Given the description of an element on the screen output the (x, y) to click on. 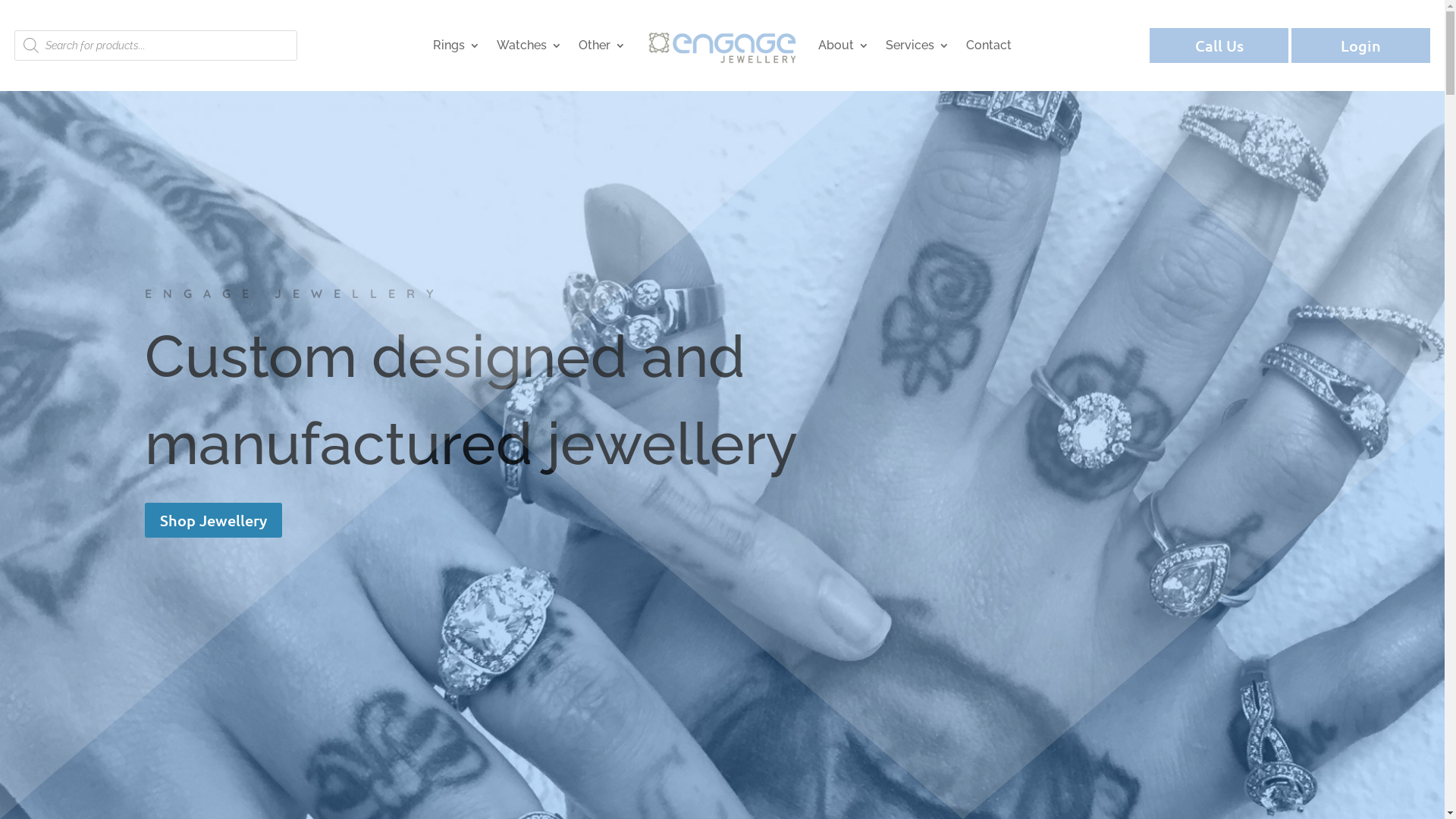
Services Element type: text (917, 45)
Contact Element type: text (988, 45)
Other Element type: text (601, 45)
Login Element type: text (1360, 45)
Shop Jewellery Element type: text (212, 519)
Watches Element type: text (528, 45)
Rings Element type: text (456, 45)
Call Us Element type: text (1218, 45)
About Element type: text (843, 45)
